Given the description of an element on the screen output the (x, y) to click on. 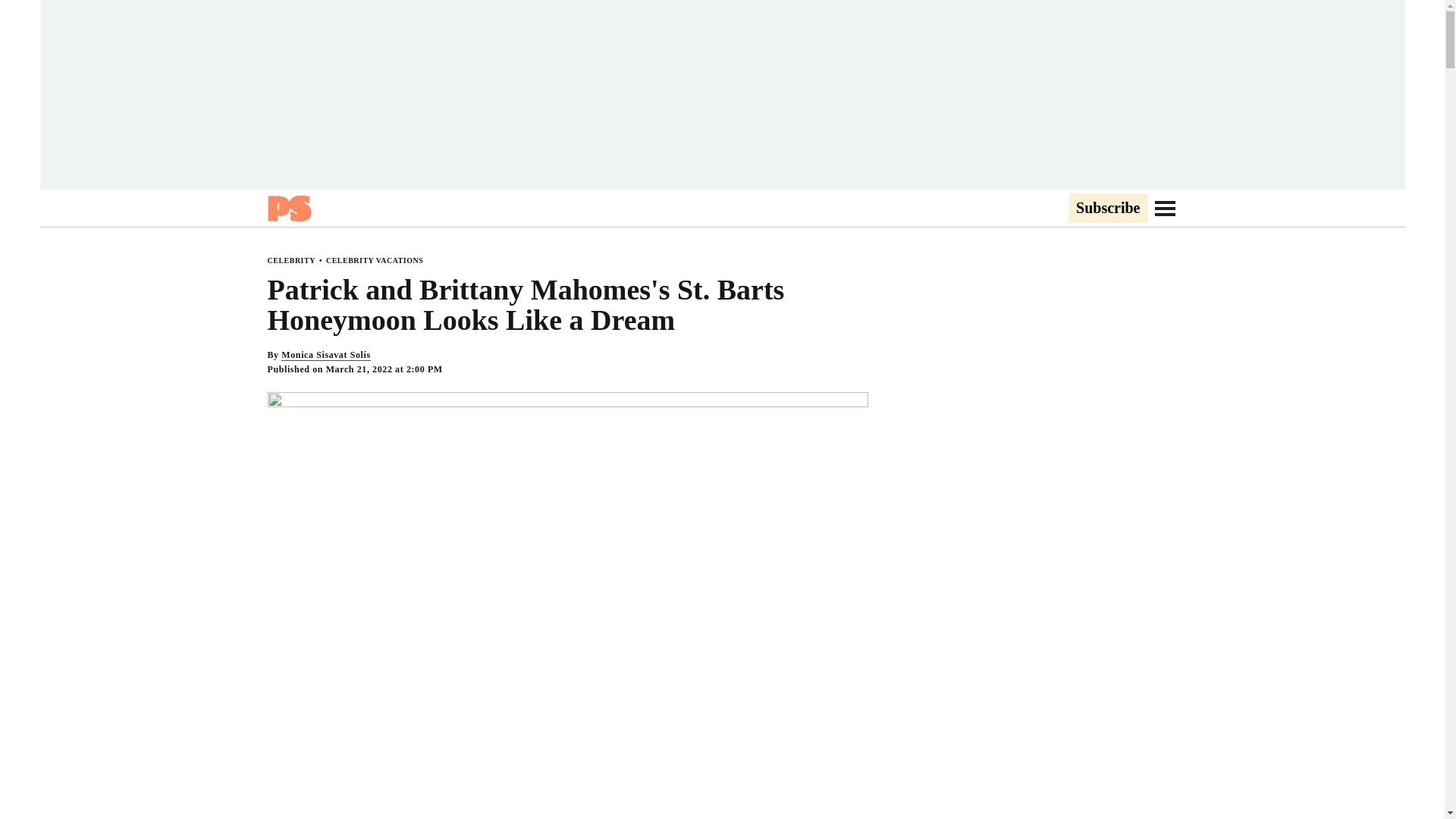
Go to Navigation (1164, 207)
CELEBRITY (290, 260)
Popsugar (288, 208)
CELEBRITY VACATIONS (374, 260)
Go to Navigation (1164, 207)
Subscribe (1107, 208)
